Given the description of an element on the screen output the (x, y) to click on. 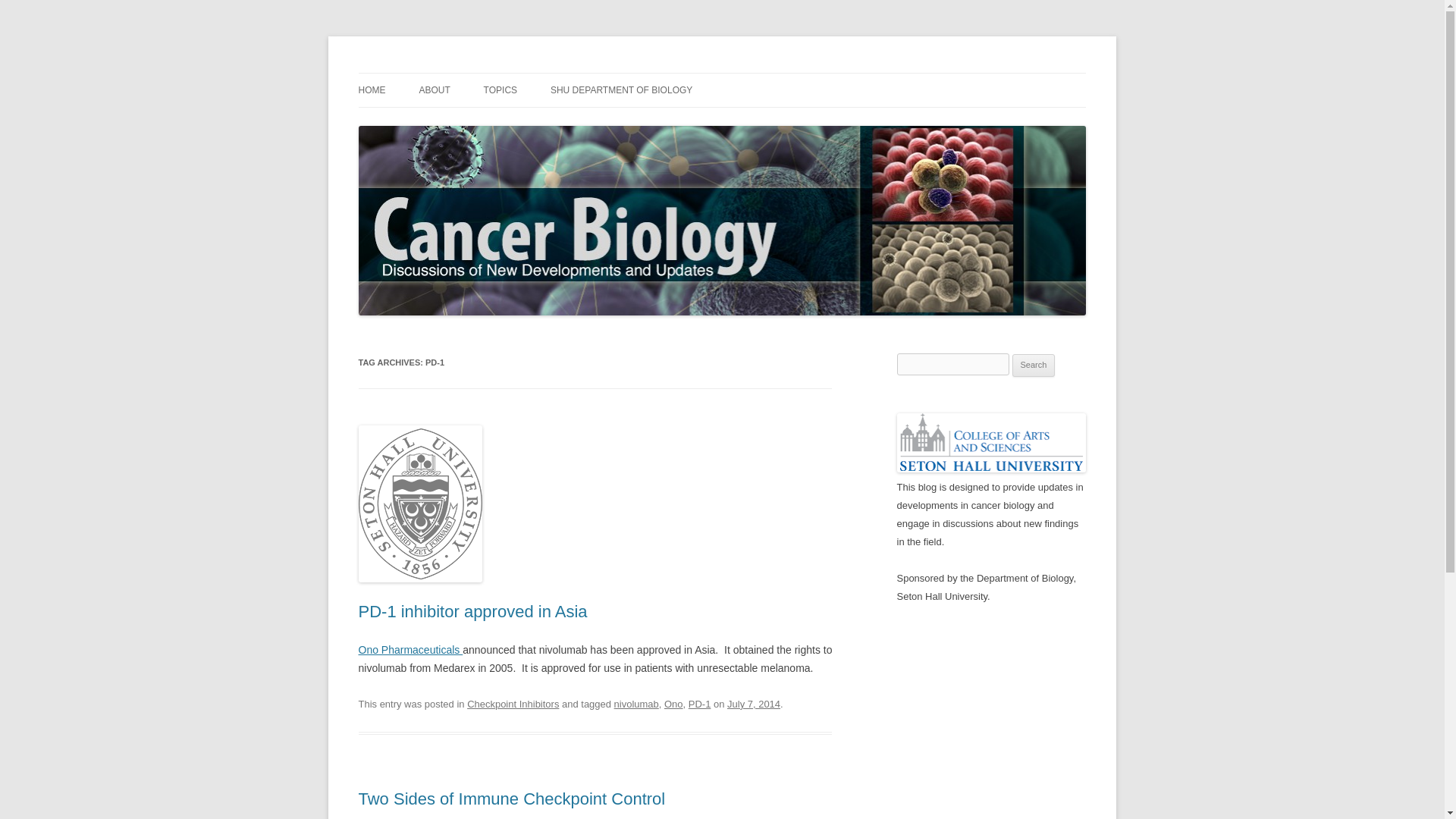
Search (1033, 364)
ABOUT (434, 90)
Cancer Biology (430, 72)
TOPICS (499, 90)
6:18 pm (753, 704)
